Given the description of an element on the screen output the (x, y) to click on. 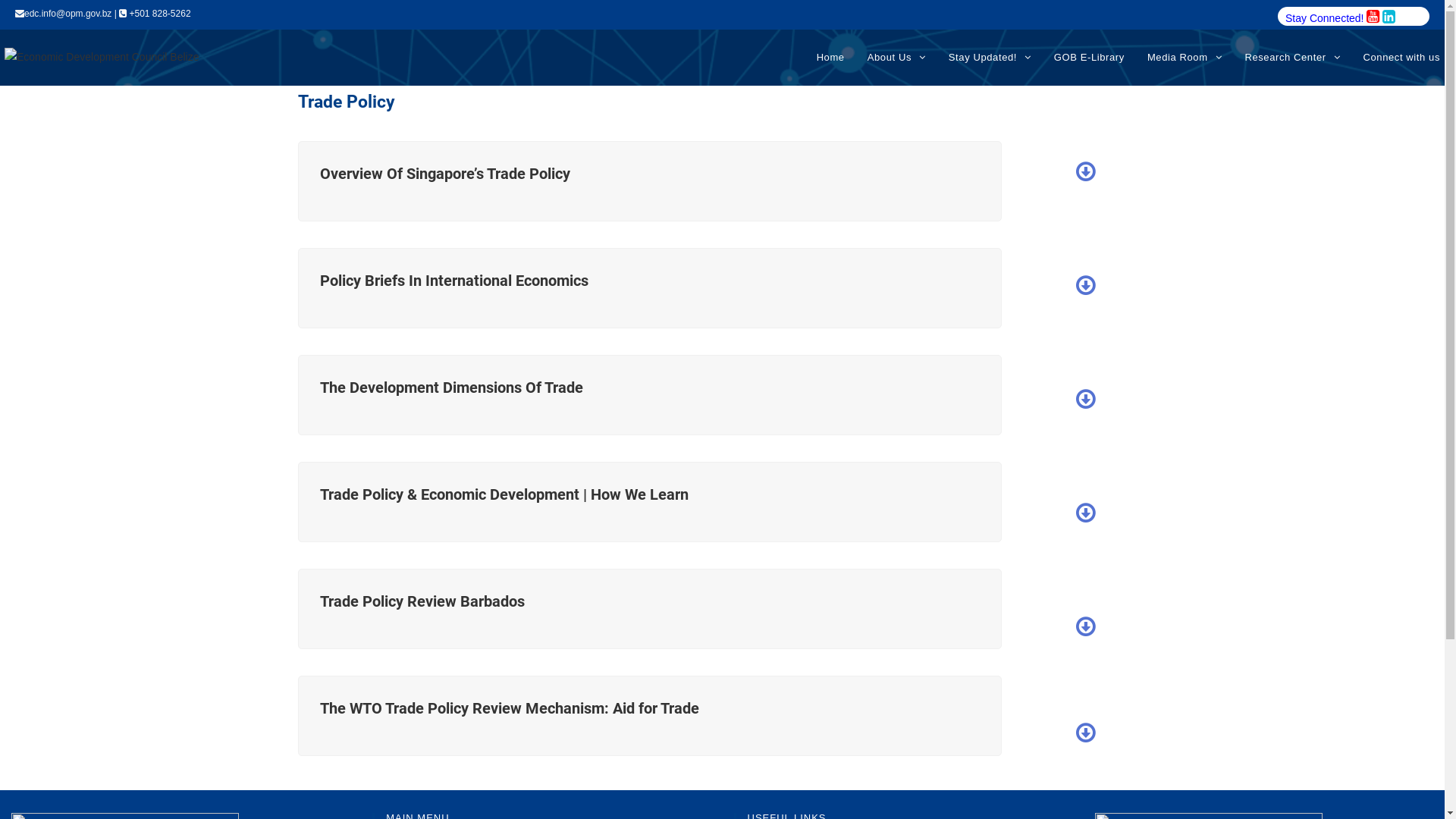
edc.info@opm.gov.bz | Element type: text (67, 13)
Home Element type: text (830, 57)
Connect with us Element type: text (1401, 57)
Research Center Element type: text (1292, 57)
GOB E-Library Element type: text (1088, 57)
About Us Element type: text (896, 57)
Media Room Element type: text (1184, 57)
Stay Updated! Element type: text (989, 57)
